Given the description of an element on the screen output the (x, y) to click on. 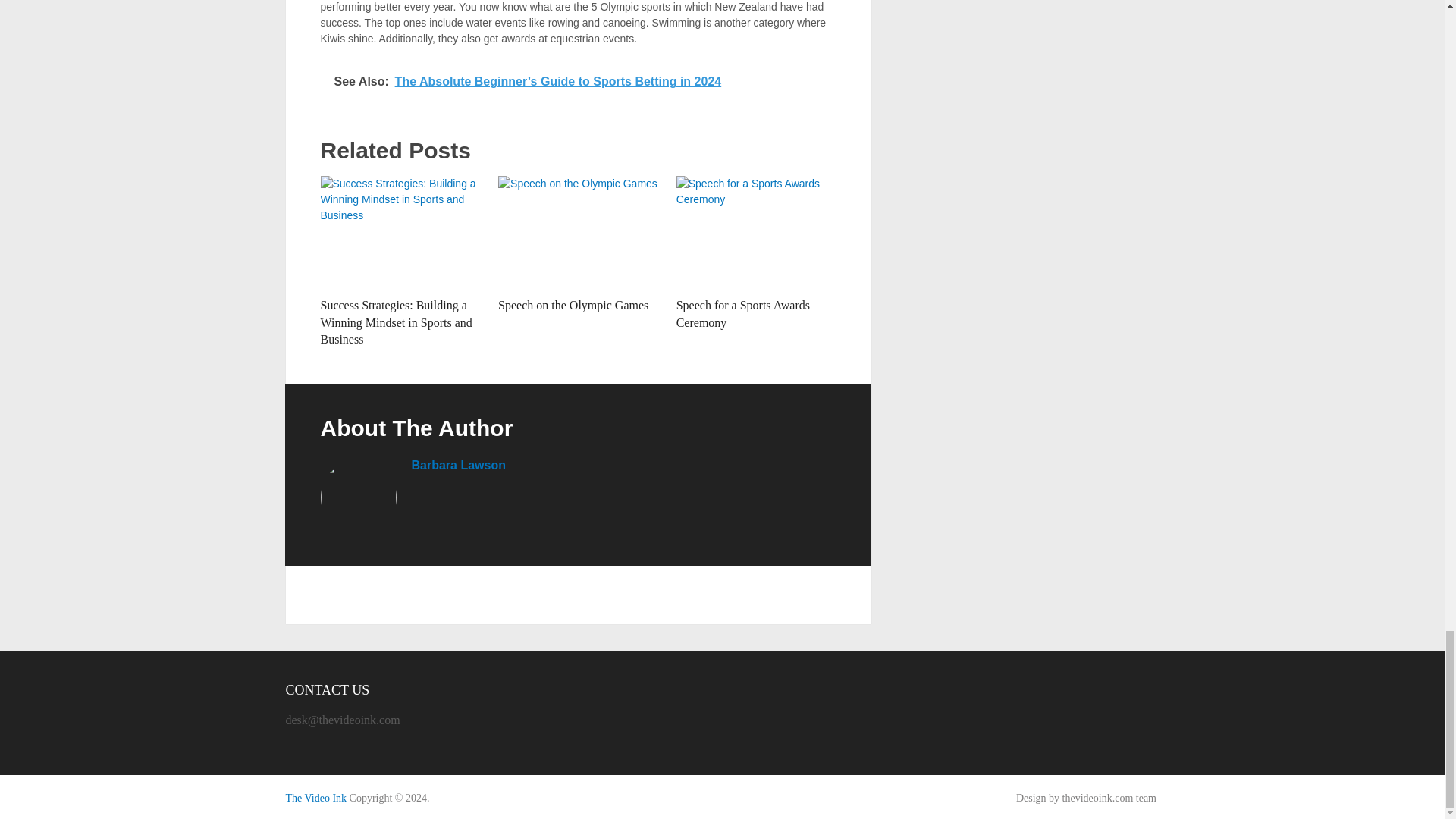
Speech for a Sports Awards Ceremony (743, 313)
Speech on the Olympic Games (572, 305)
Speech on the Olympic Games (577, 232)
Speech on the Olympic Games (572, 305)
Speech for a Sports Awards Ceremony (756, 232)
